Given the description of an element on the screen output the (x, y) to click on. 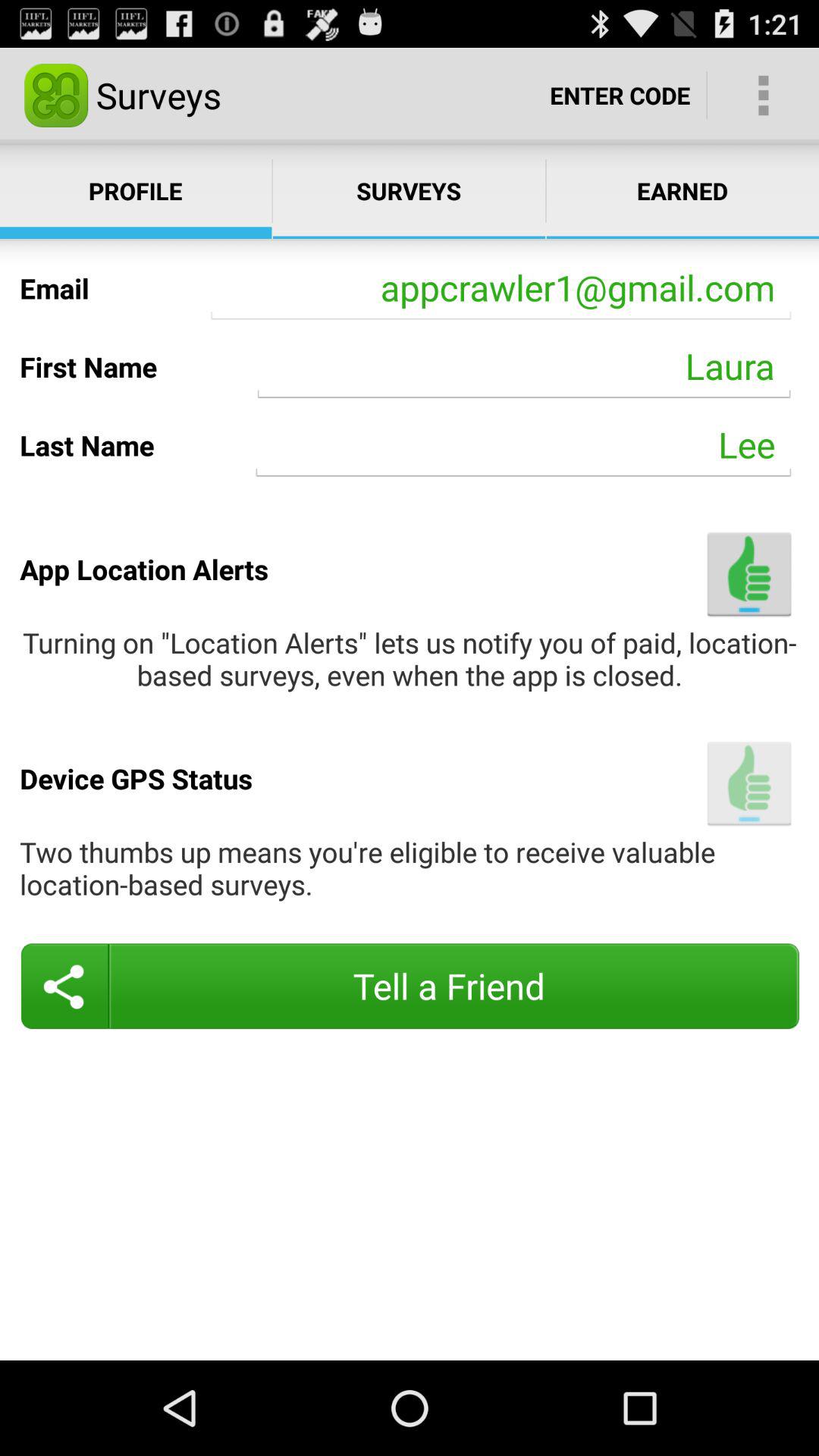
toggle device gps option (749, 783)
